Given the description of an element on the screen output the (x, y) to click on. 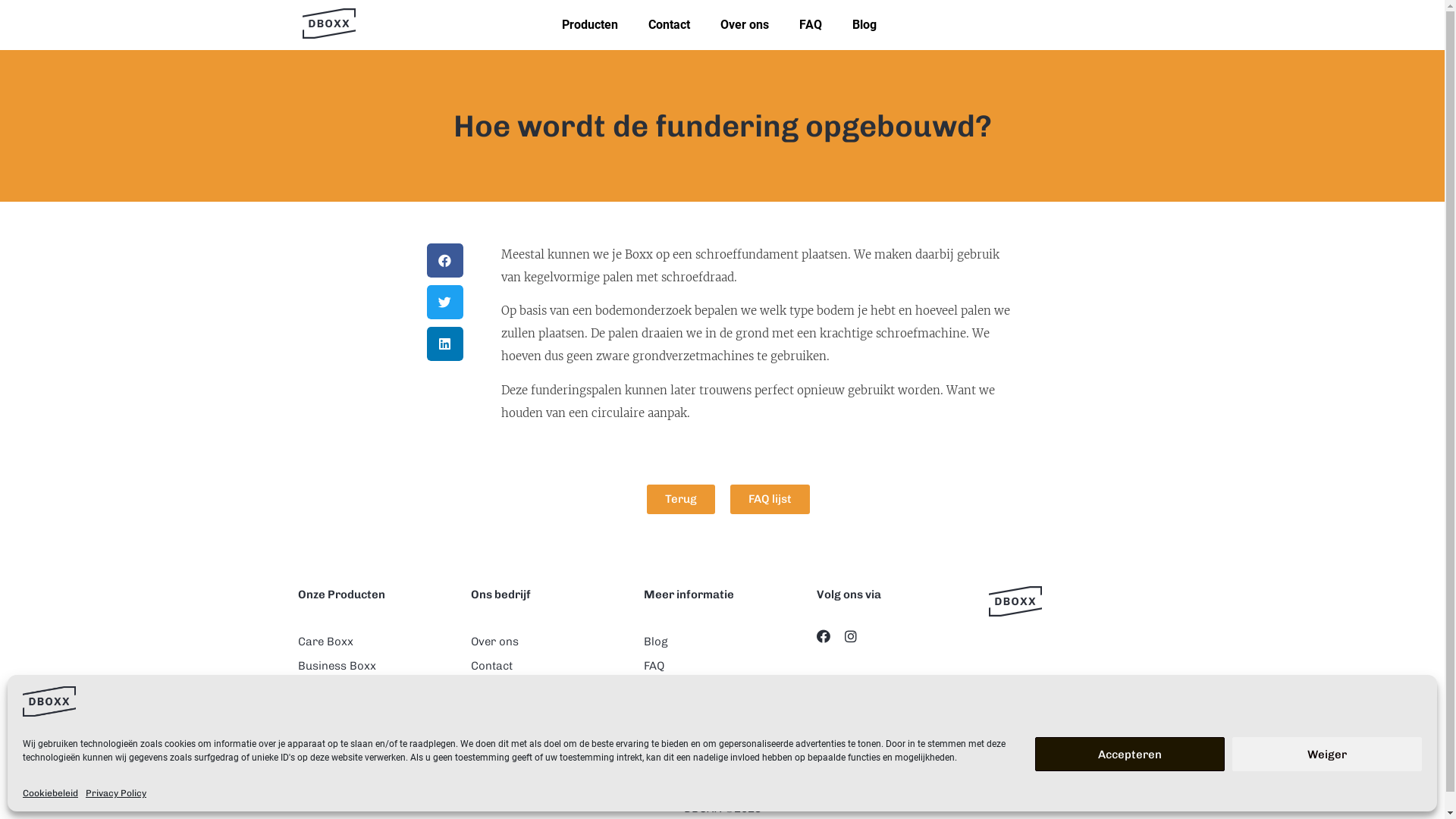
Blog Element type: text (721, 641)
Producten Element type: text (589, 24)
Accepteren Element type: text (1129, 754)
Cookiebeleid Element type: text (721, 714)
Care Boxx Element type: text (376, 641)
Privacy Policy Element type: text (115, 793)
Flex Boxx Element type: text (376, 714)
FAQ lijst Element type: text (769, 499)
Over ons Element type: text (548, 641)
Contact Element type: text (669, 24)
Terug Element type: text (680, 499)
Over ons Element type: text (744, 24)
Privacy Policy Element type: text (721, 738)
Cookiebeleid Element type: text (50, 793)
Contact Element type: text (548, 665)
Business Boxx Element type: text (376, 665)
Standaardmodellen Element type: text (376, 738)
FAQ Element type: text (721, 665)
Weiger Element type: text (1326, 754)
Blog Element type: text (864, 24)
FAQ Element type: text (810, 24)
Ambient Assited Living Element type: text (721, 689)
Relax Boxx Element type: text (376, 689)
